Given the description of an element on the screen output the (x, y) to click on. 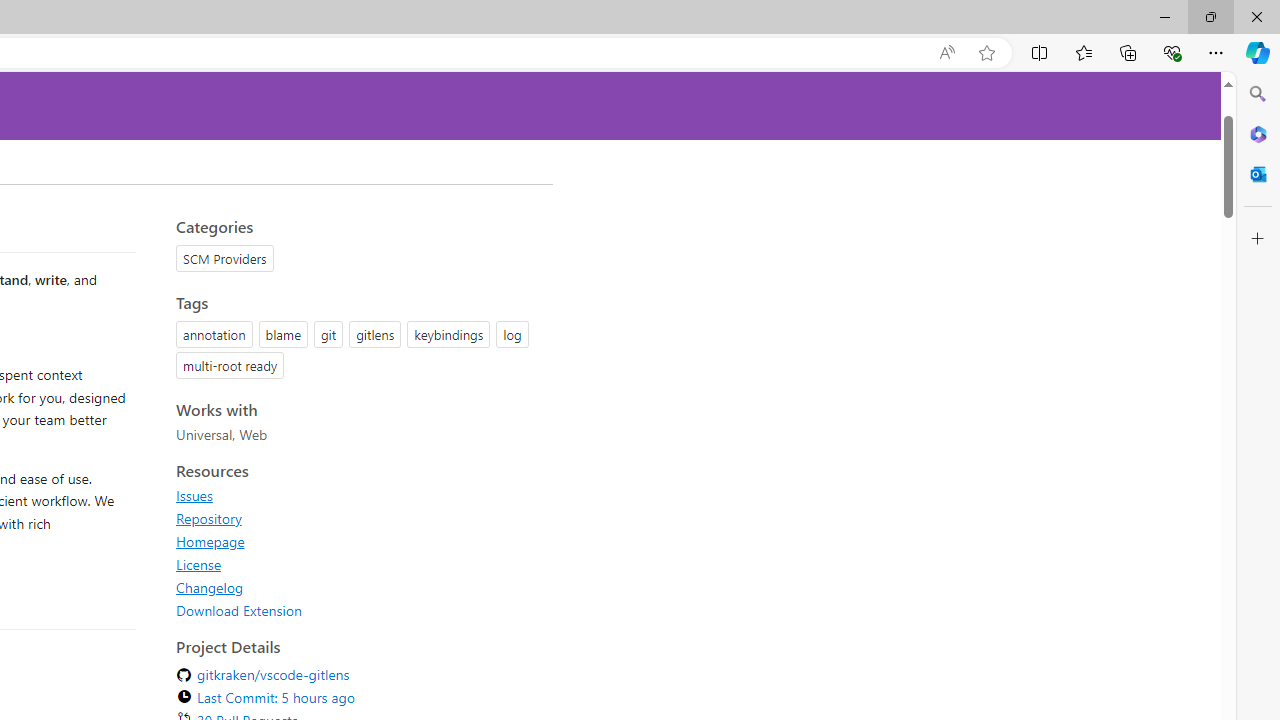
Issues (194, 495)
Repository (208, 518)
Homepage (210, 541)
Changelog (358, 587)
